Given the description of an element on the screen output the (x, y) to click on. 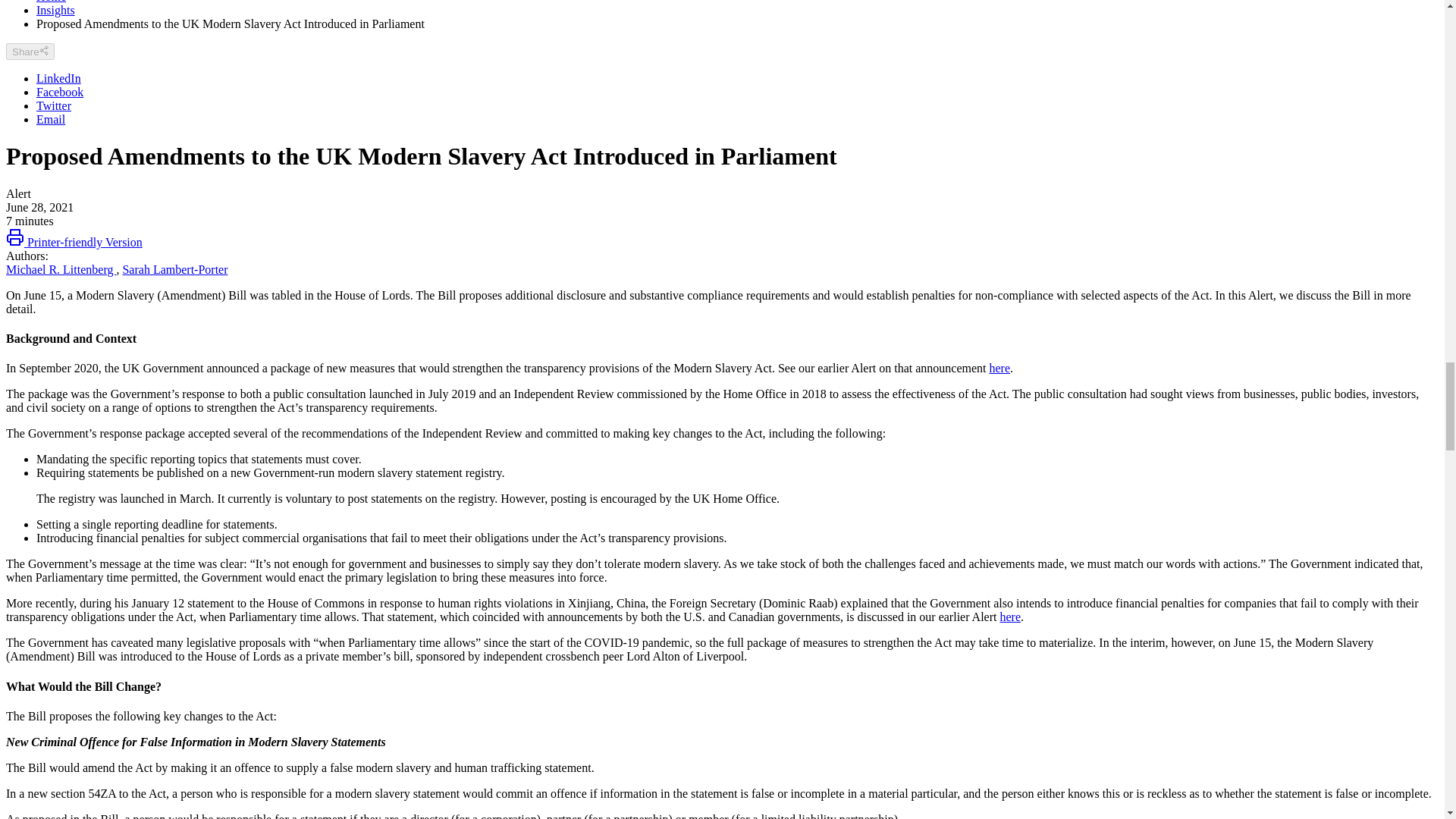
here (1009, 616)
Share (30, 51)
here (999, 367)
Printer-friendly Version (73, 241)
Facebook (59, 91)
Michael R. Littenberg (60, 269)
Email (50, 119)
Home (50, 1)
Insights (55, 10)
Twitter (53, 105)
LinkedIn (58, 78)
Sarah Lambert-Porter (174, 269)
